Given the description of an element on the screen output the (x, y) to click on. 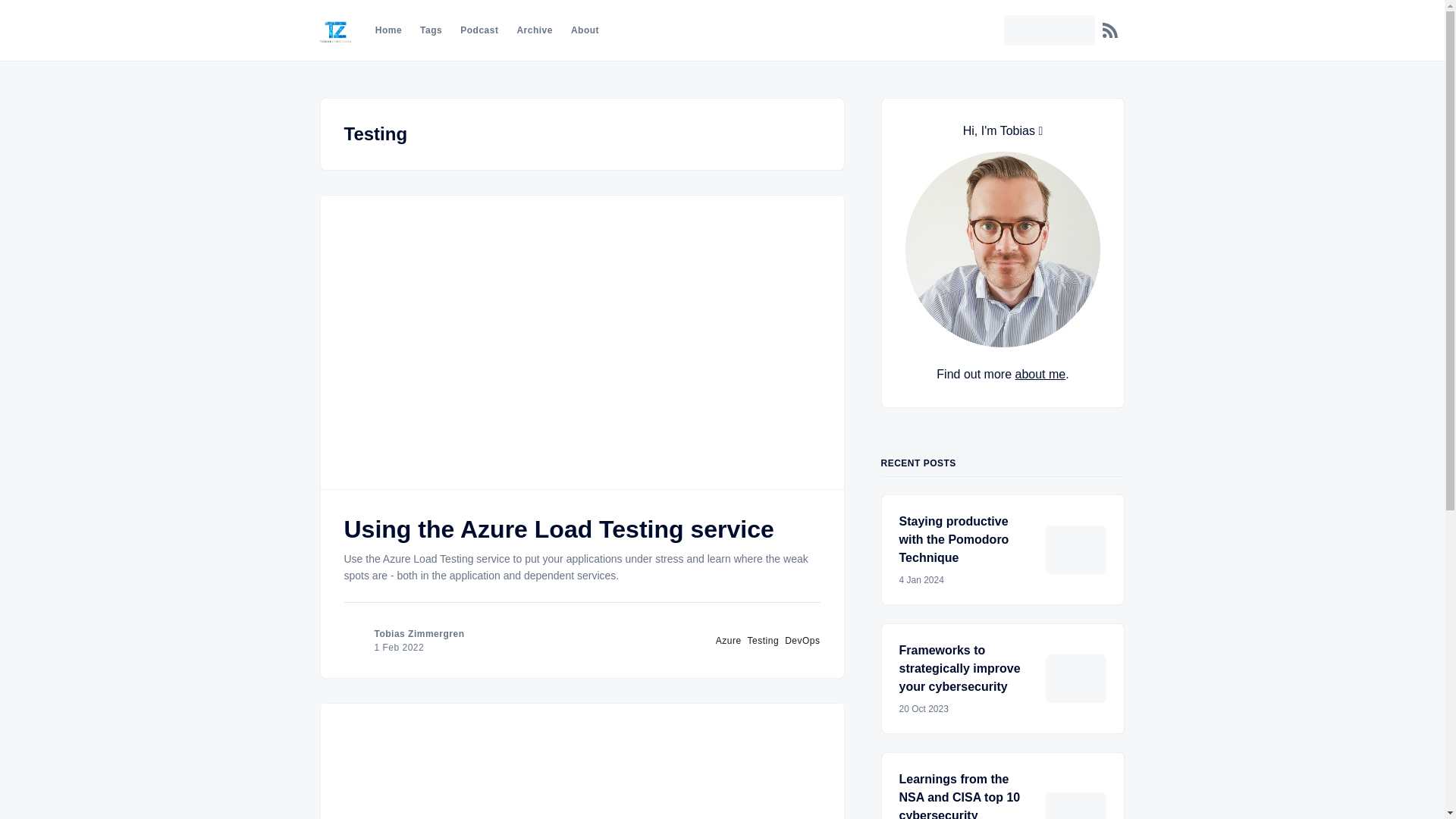
Tags (431, 29)
Podcast (478, 29)
Testing (763, 640)
Tobias Zimmergren (419, 633)
about me (1039, 373)
Using the Azure Load Testing service (558, 528)
About (584, 29)
Home (388, 29)
RSS (1109, 30)
Archive (534, 29)
Azure (728, 640)
DevOps (801, 640)
